Given the description of an element on the screen output the (x, y) to click on. 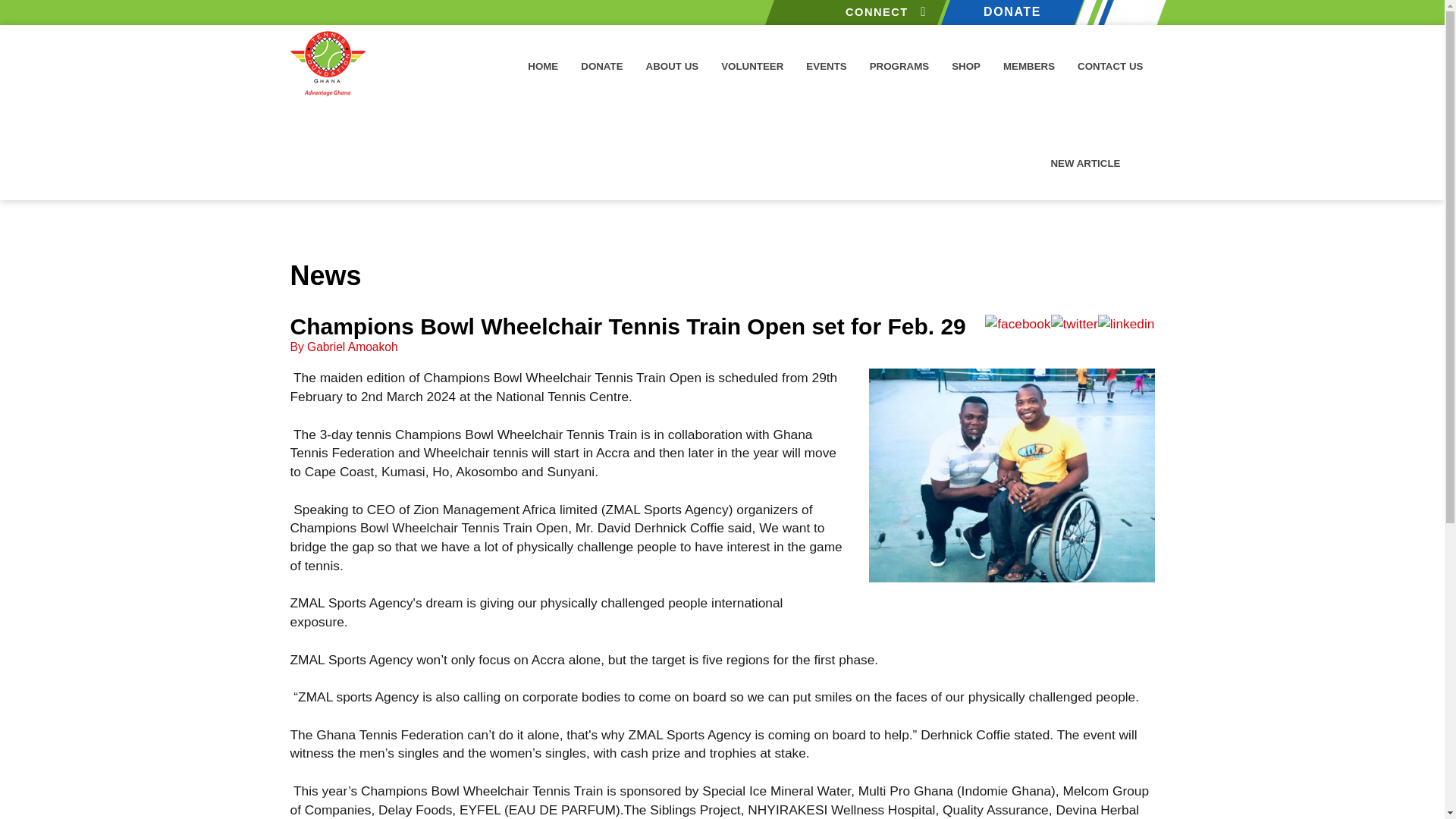
CONNECT    (851, 12)
DONATE (1007, 12)
ABOUT US (672, 64)
VOLUNTEER (752, 64)
PROGRAMS (899, 64)
Tennis Foundation Ghana (327, 63)
